Given the description of an element on the screen output the (x, y) to click on. 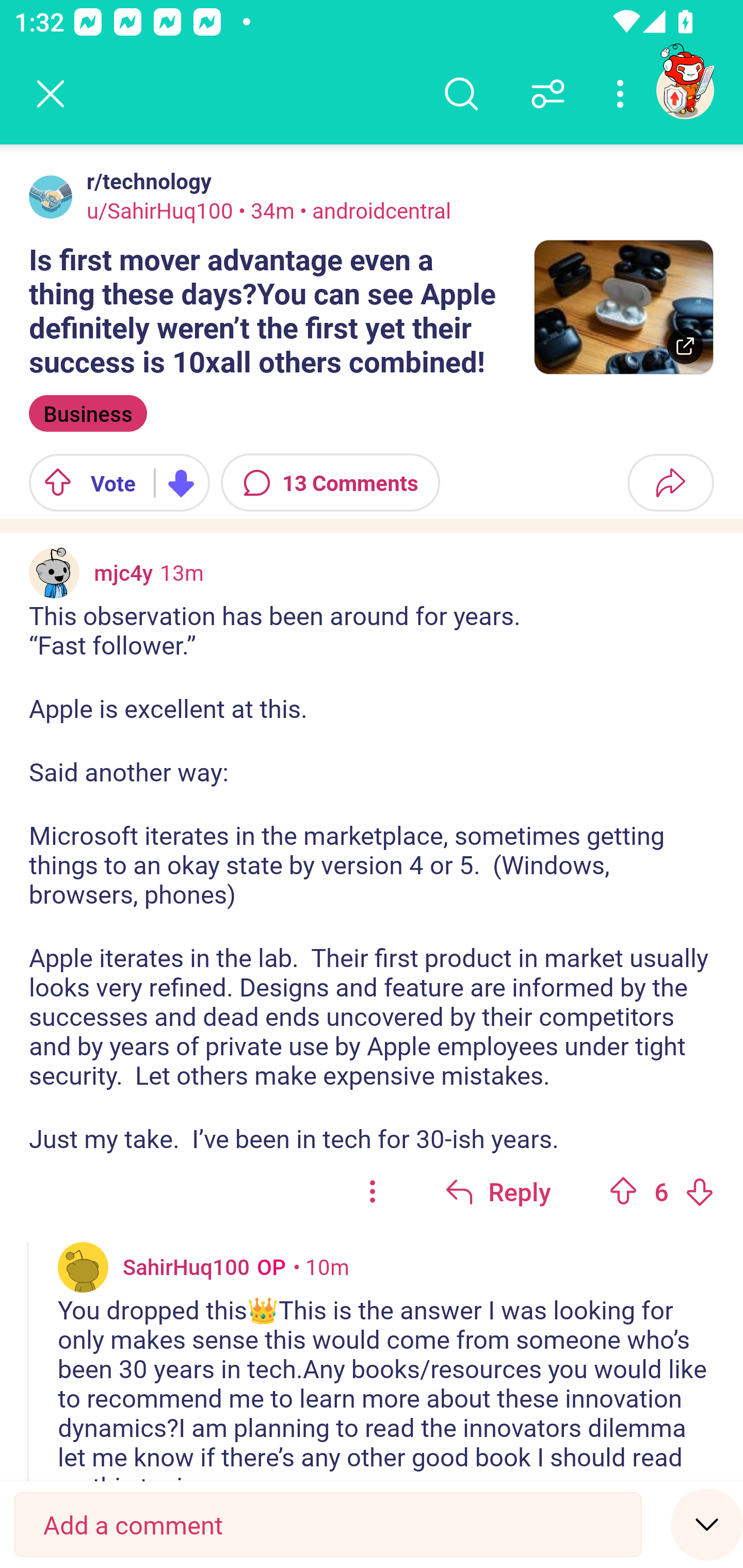
Back (50, 93)
TestAppium002 account (685, 90)
Search comments (460, 93)
Sort comments (547, 93)
More options (623, 93)
r/technology (145, 181)
Avatar (50, 196)
u/SahirHuq100 (159, 210)
 • androidcentral (372, 210)
Thumbnail image (623, 306)
Business (87, 413)
Upvote Vote (83, 482)
13 Comments (329, 482)
Share (670, 482)
Custom avatar (53, 572)
13m (181, 572)
options (372, 1191)
Reply (498, 1191)
Upvote 6 6 votes Downvote (661, 1191)
Upvote (622, 1191)
Downvote (699, 1191)
Avatar (82, 1266)
OP (267, 1266)
• 10m (320, 1266)
Speed read (706, 1524)
Add a comment (327, 1524)
